Given the description of an element on the screen output the (x, y) to click on. 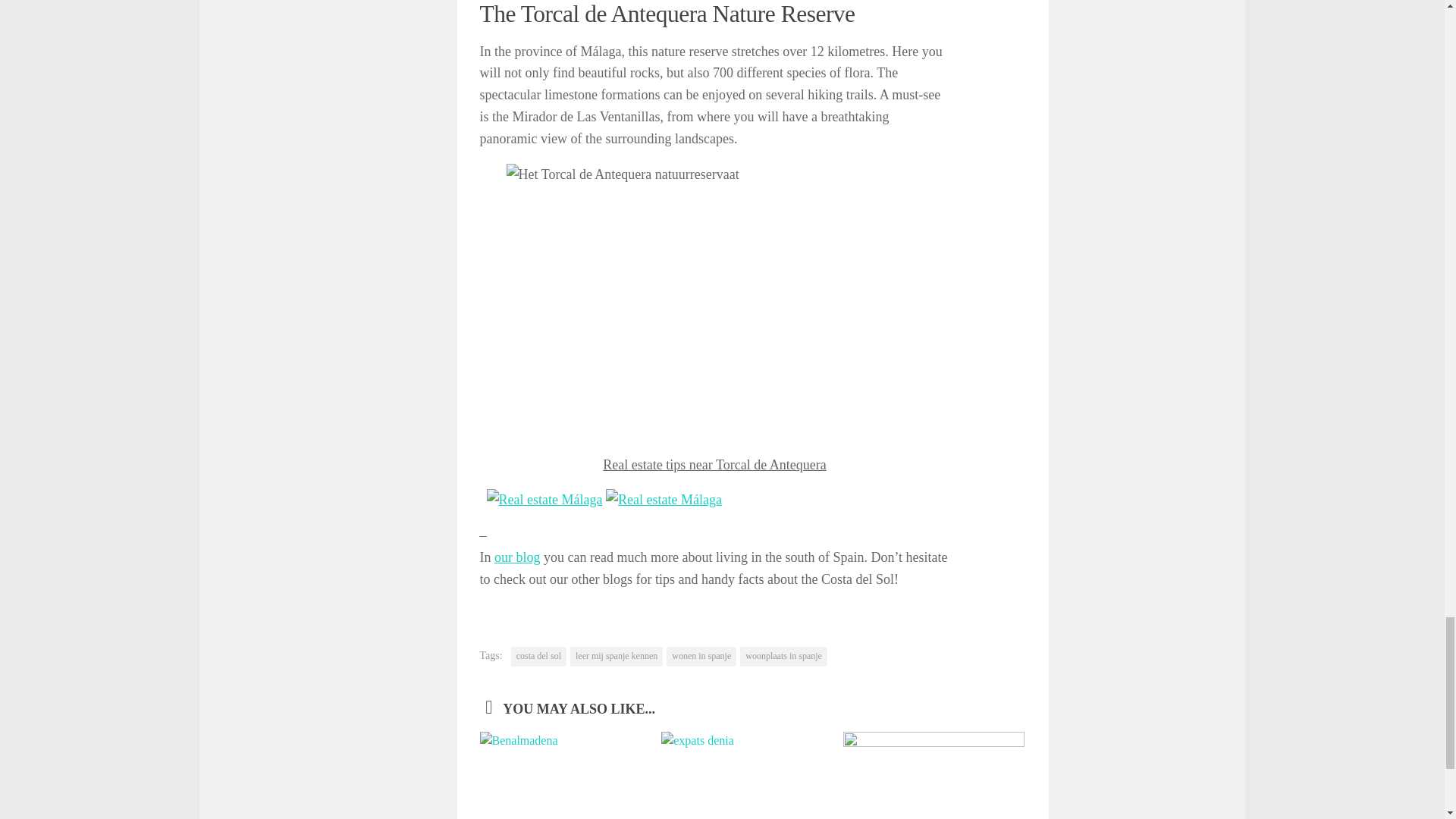
our blog (517, 557)
costa del sol (538, 656)
